Given the description of an element on the screen output the (x, y) to click on. 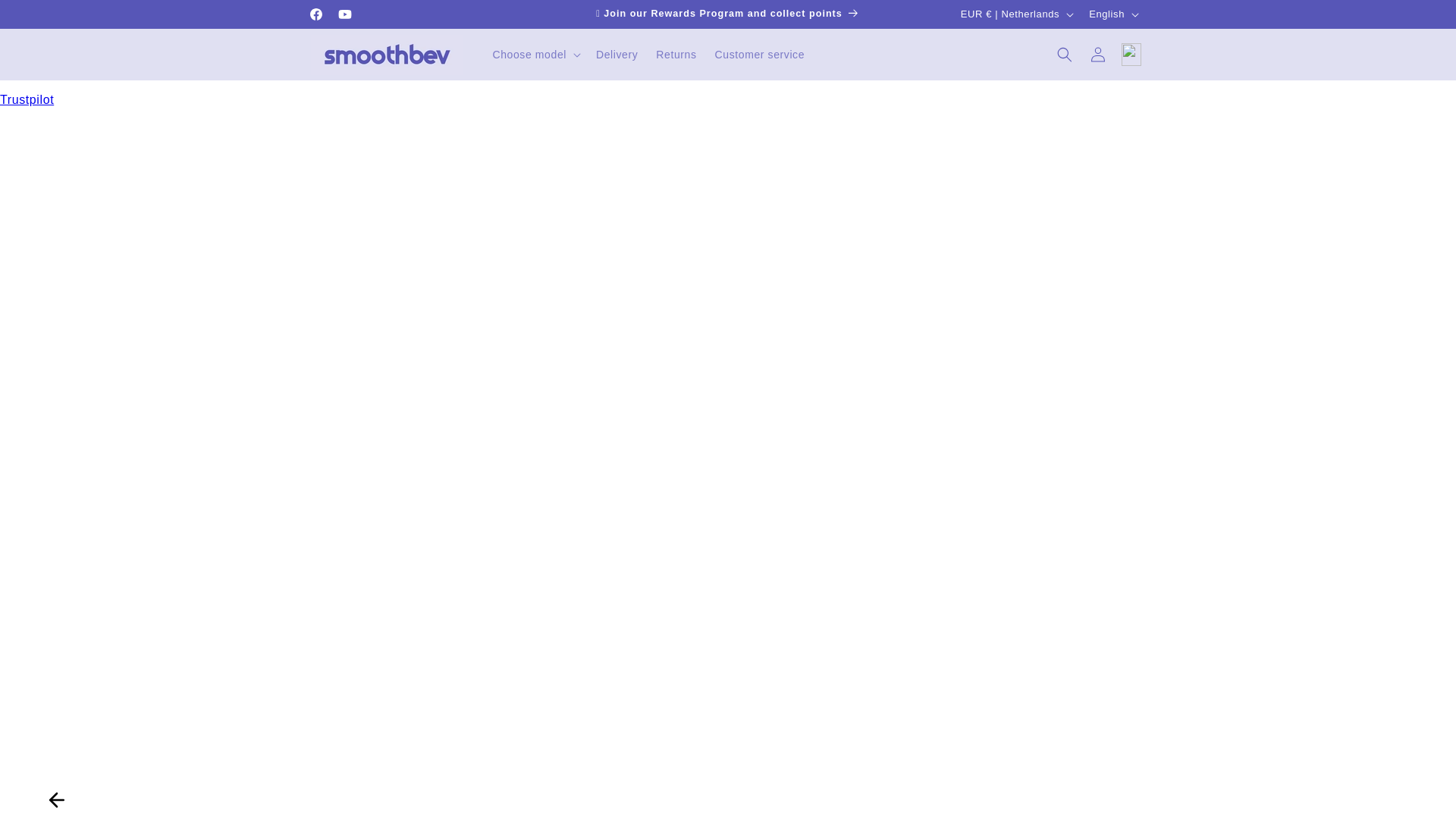
English (1112, 14)
YouTube (344, 14)
Skip to content (45, 17)
Facebook (315, 14)
